Given the description of an element on the screen output the (x, y) to click on. 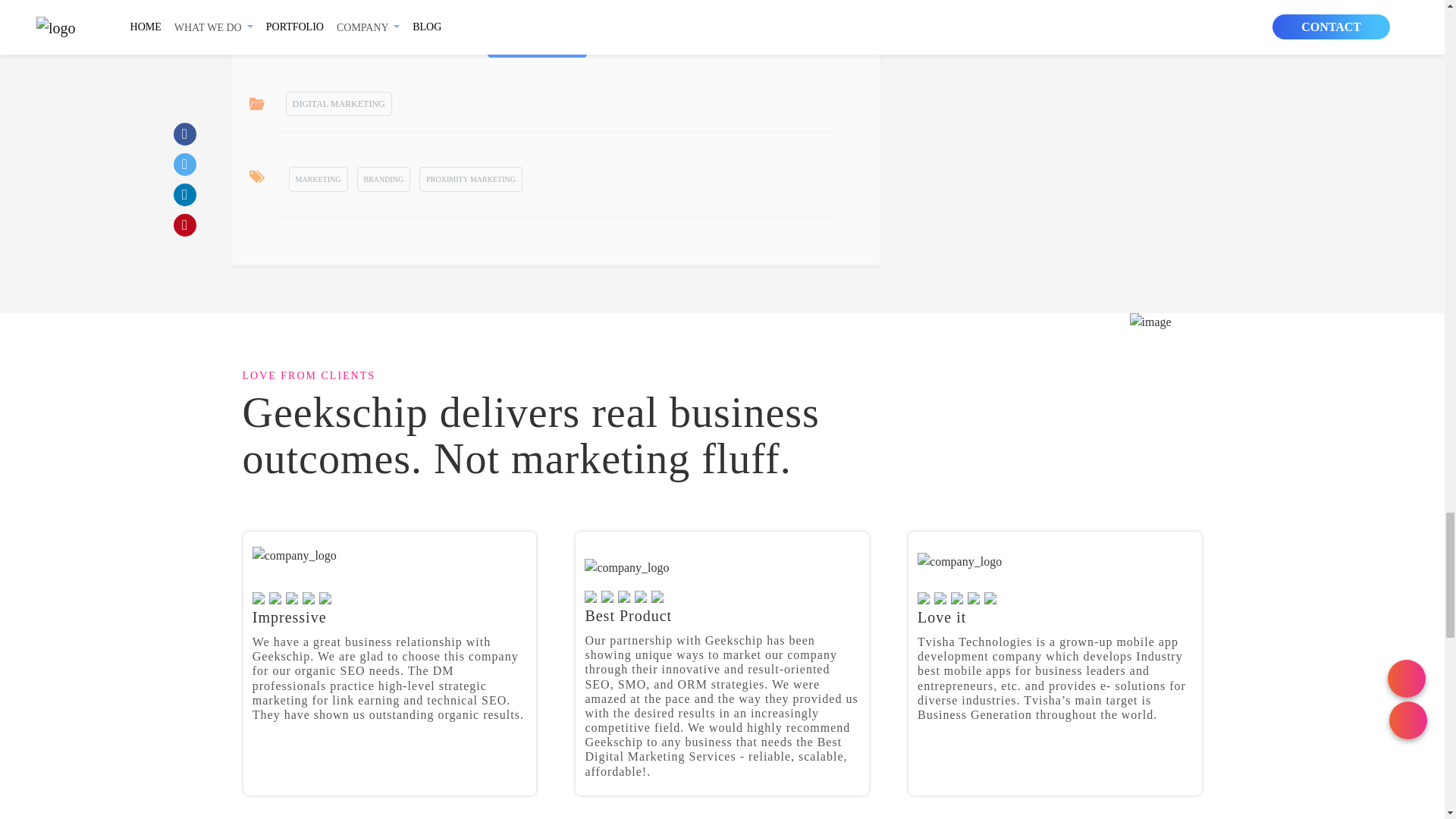
Request a Quote (537, 42)
